Given the description of an element on the screen output the (x, y) to click on. 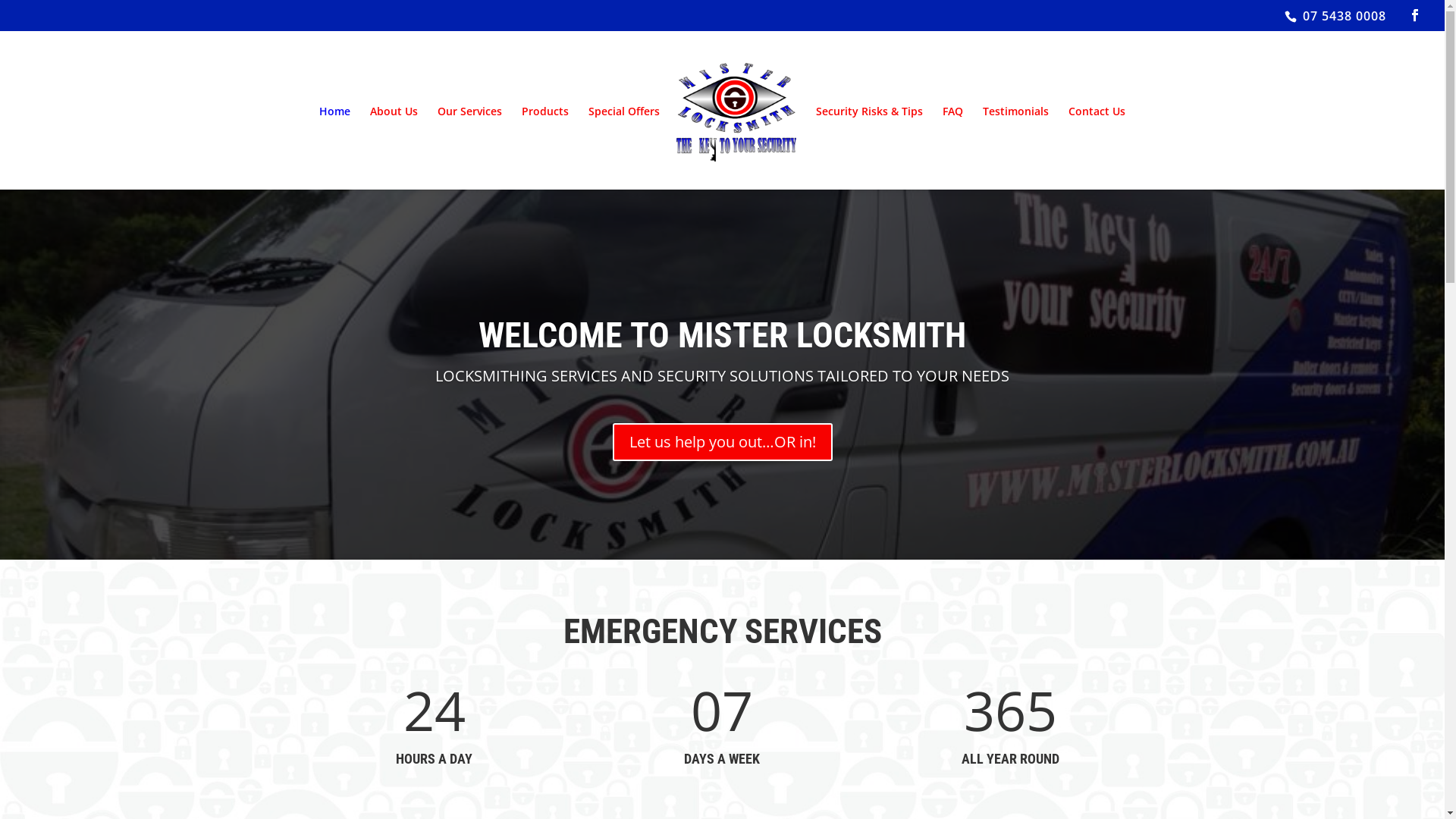
Home Element type: text (334, 115)
07 5438 0008 Element type: text (1342, 15)
Testimonials Element type: text (1015, 115)
WELCOME TO MISTER LOCKSMITH Element type: text (722, 334)
Security Risks & Tips Element type: text (868, 115)
Products Element type: text (544, 115)
About Us Element type: text (393, 115)
Our Services Element type: text (469, 115)
Special Offers Element type: text (623, 115)
Contact Us Element type: text (1096, 115)
FAQ Element type: text (952, 115)
